Given the description of an element on the screen output the (x, y) to click on. 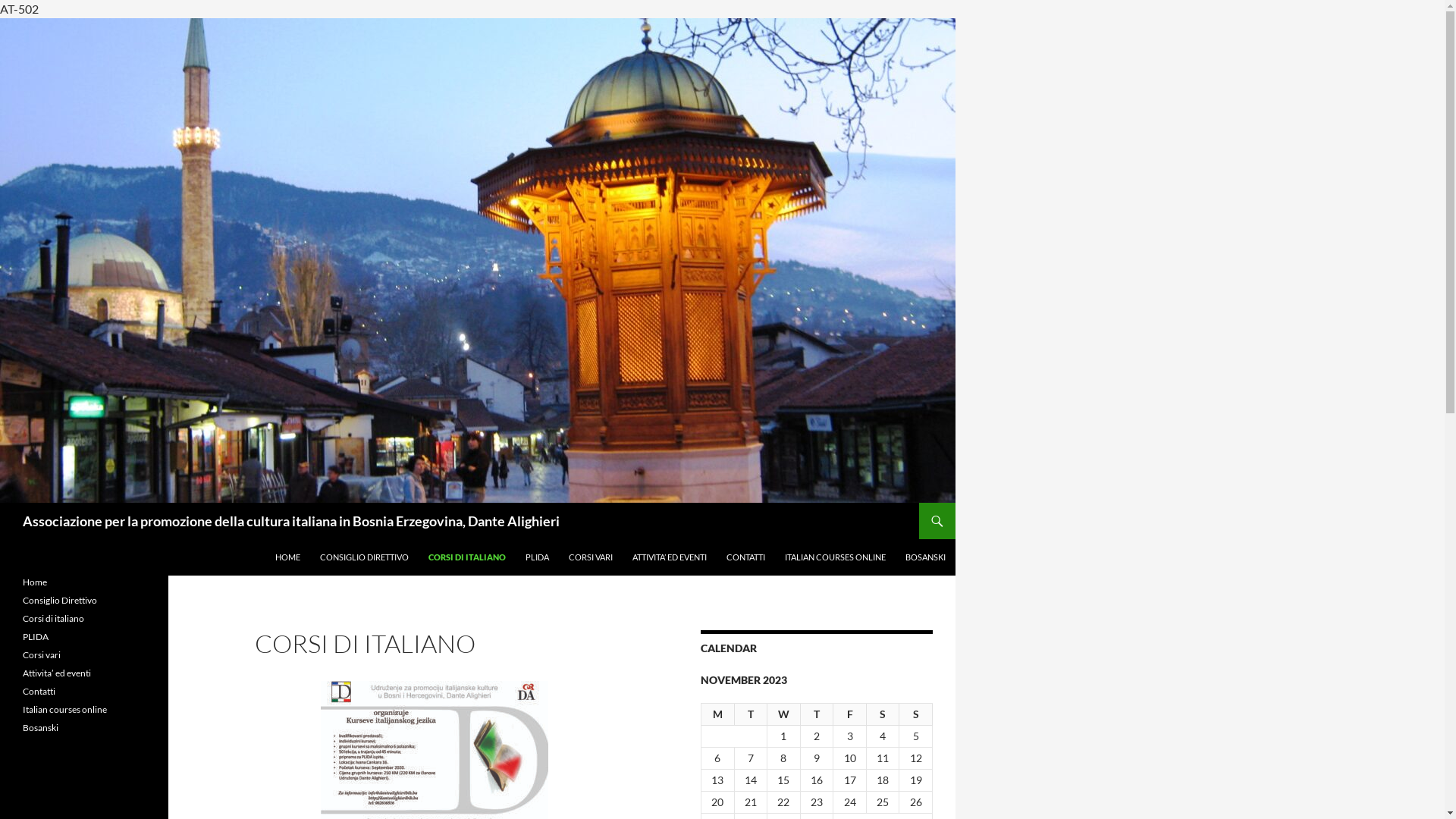
CONTATTI Element type: text (745, 557)
Italian courses online Element type: text (64, 709)
Corsi vari Element type: text (41, 654)
Consiglio Direttivo Element type: text (59, 599)
CONSIGLIO DIRETTIVO Element type: text (363, 557)
PLIDA Element type: text (537, 557)
BOSANSKI Element type: text (925, 557)
PLIDA Element type: text (35, 636)
HOME Element type: text (287, 557)
ITALIAN COURSES ONLINE Element type: text (834, 557)
Contatti Element type: text (38, 690)
SKIP TO CONTENT Element type: text (275, 539)
CORSI DI ITALIANO Element type: text (466, 557)
Home Element type: text (34, 581)
CORSI VARI Element type: text (590, 557)
Search Element type: text (3, 502)
Corsi di italiano Element type: text (53, 618)
Bosanski Element type: text (40, 727)
